Given the description of an element on the screen output the (x, y) to click on. 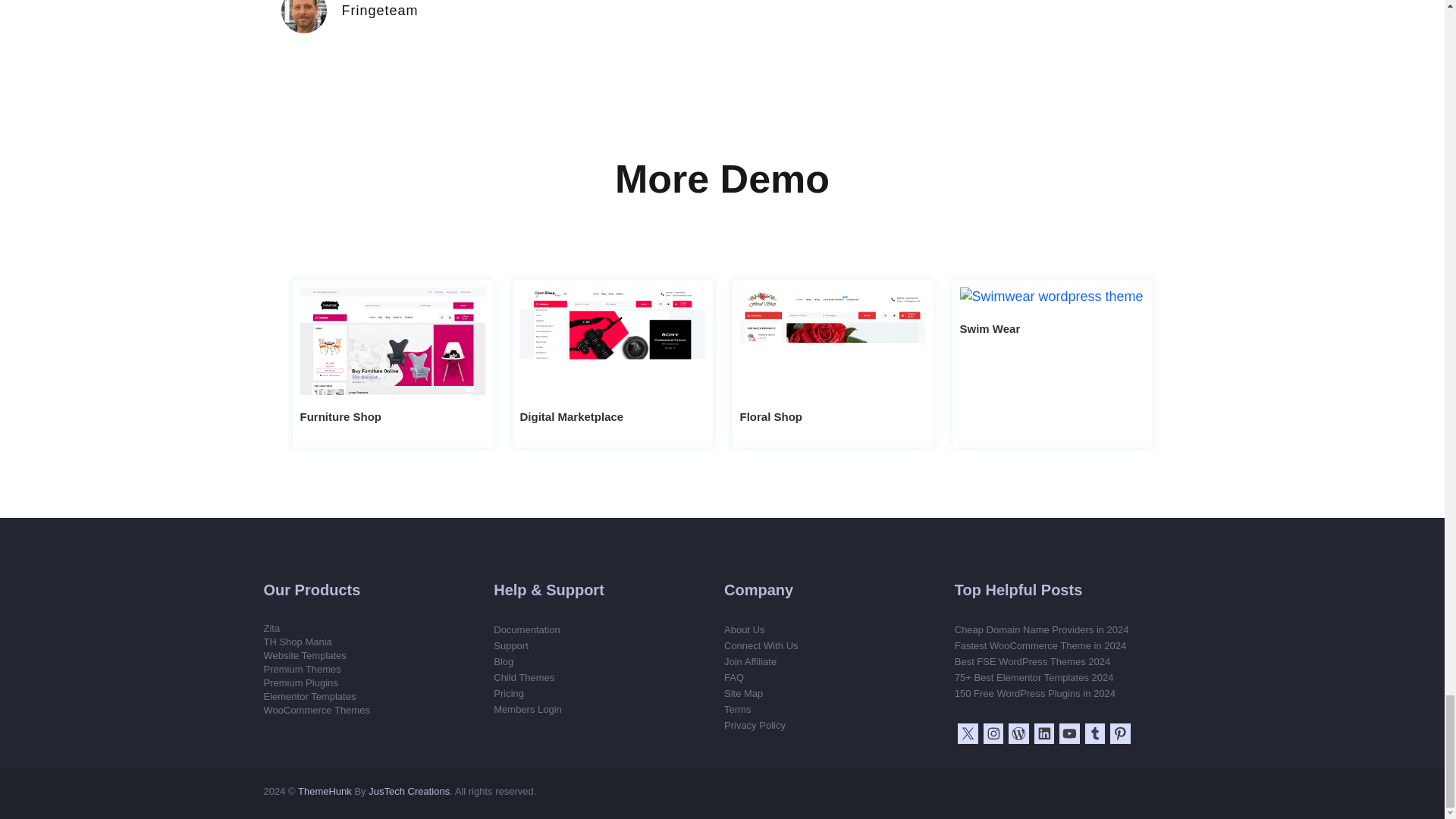
Swim Wear 14 (1051, 297)
Furniture Shop 11 (391, 340)
Digital Marketplace 12 (611, 340)
Floral Shop 13 (831, 340)
